Given the description of an element on the screen output the (x, y) to click on. 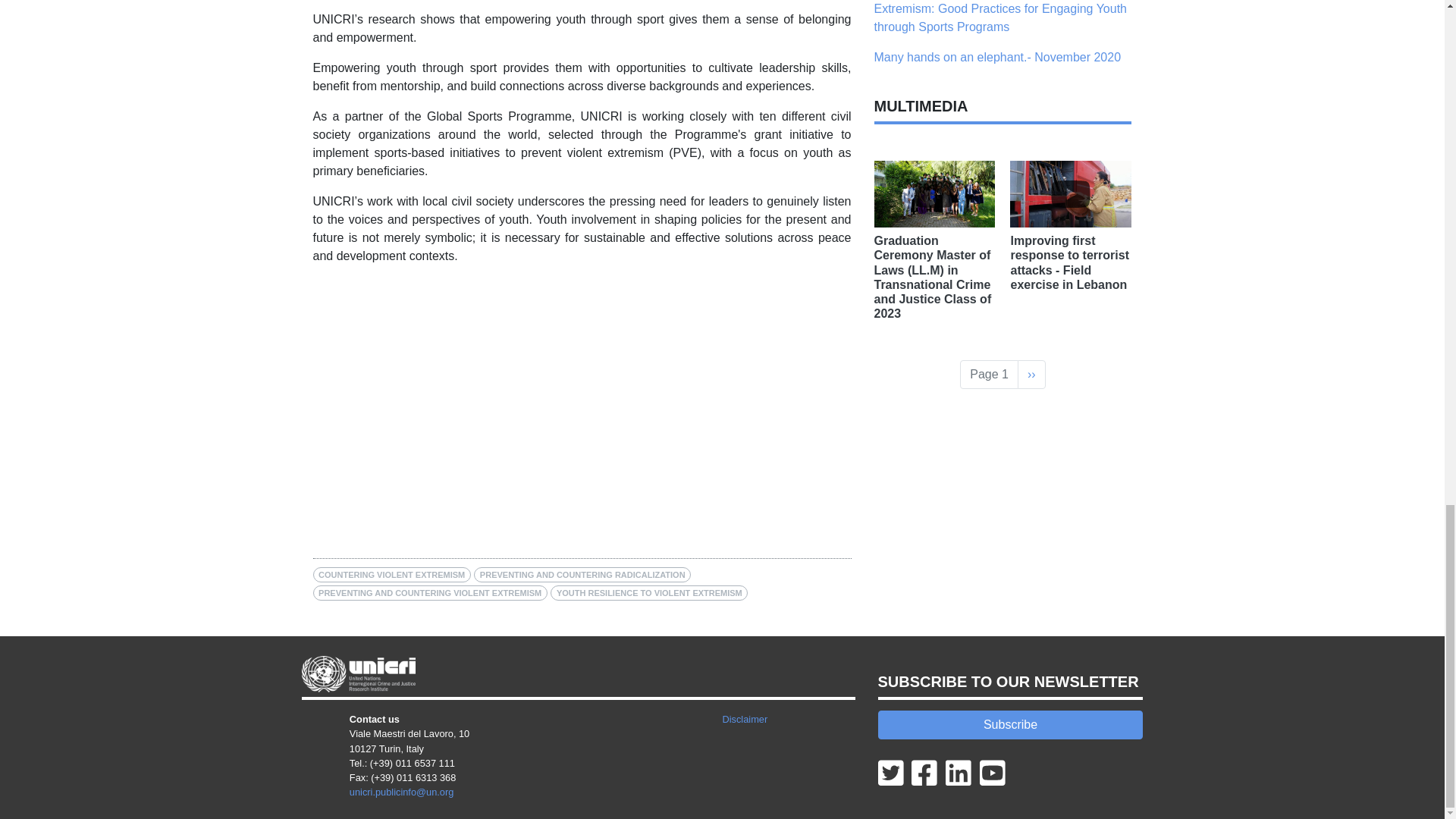
YouTube video player (524, 396)
Go to next page (1031, 374)
